Given the description of an element on the screen output the (x, y) to click on. 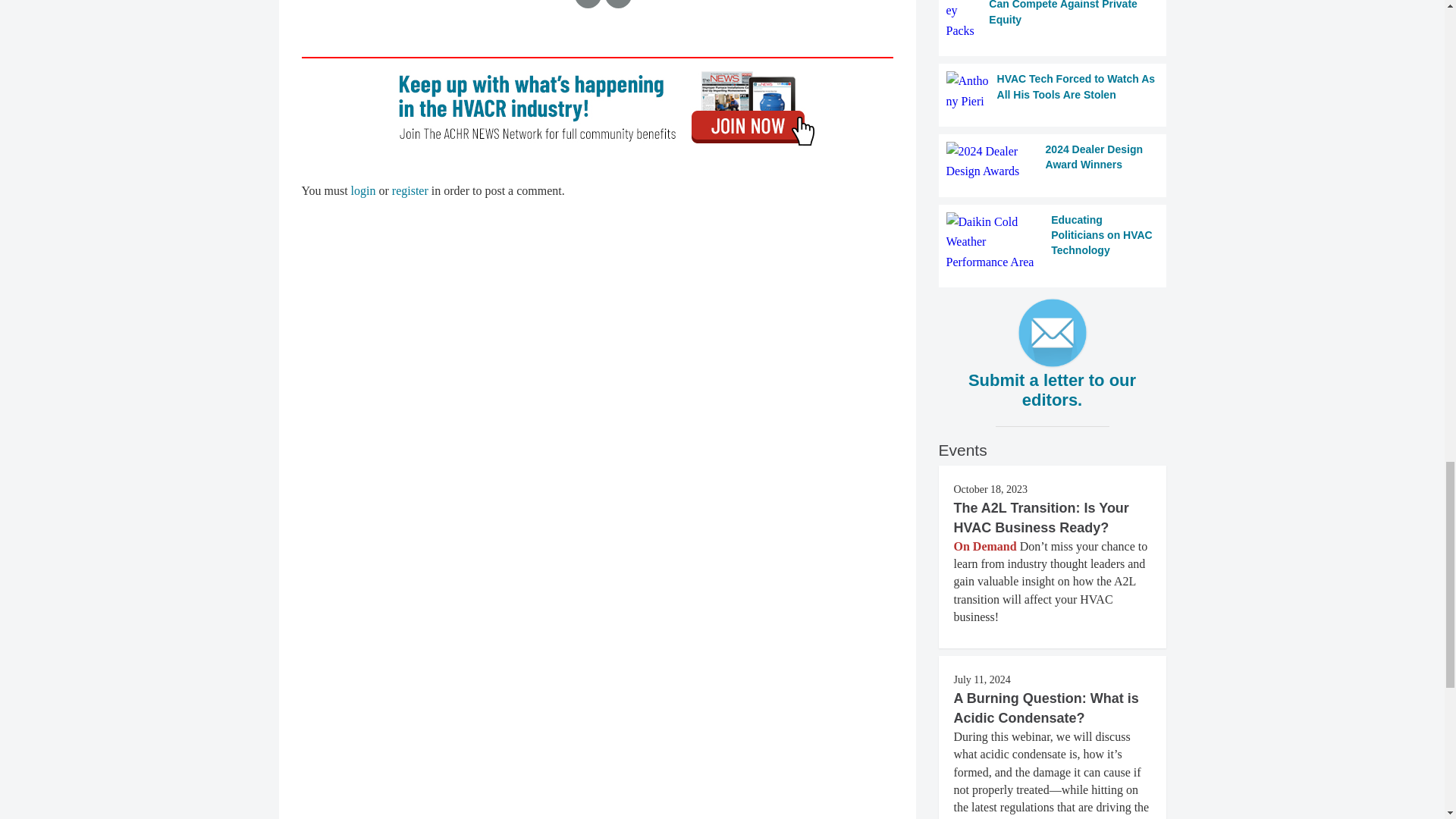
2024 Dealer Design Award Winners (1052, 161)
HVAC Tech Forced to Watch As All His Tools Are Stolen (1052, 91)
A Burning Question: What is Acidic Condensate? (1045, 708)
The A2L Transition: Is Your HVAC Business Ready? (1041, 517)
Educating Politicians on HVAC Technology (1052, 241)
